Given the description of an element on the screen output the (x, y) to click on. 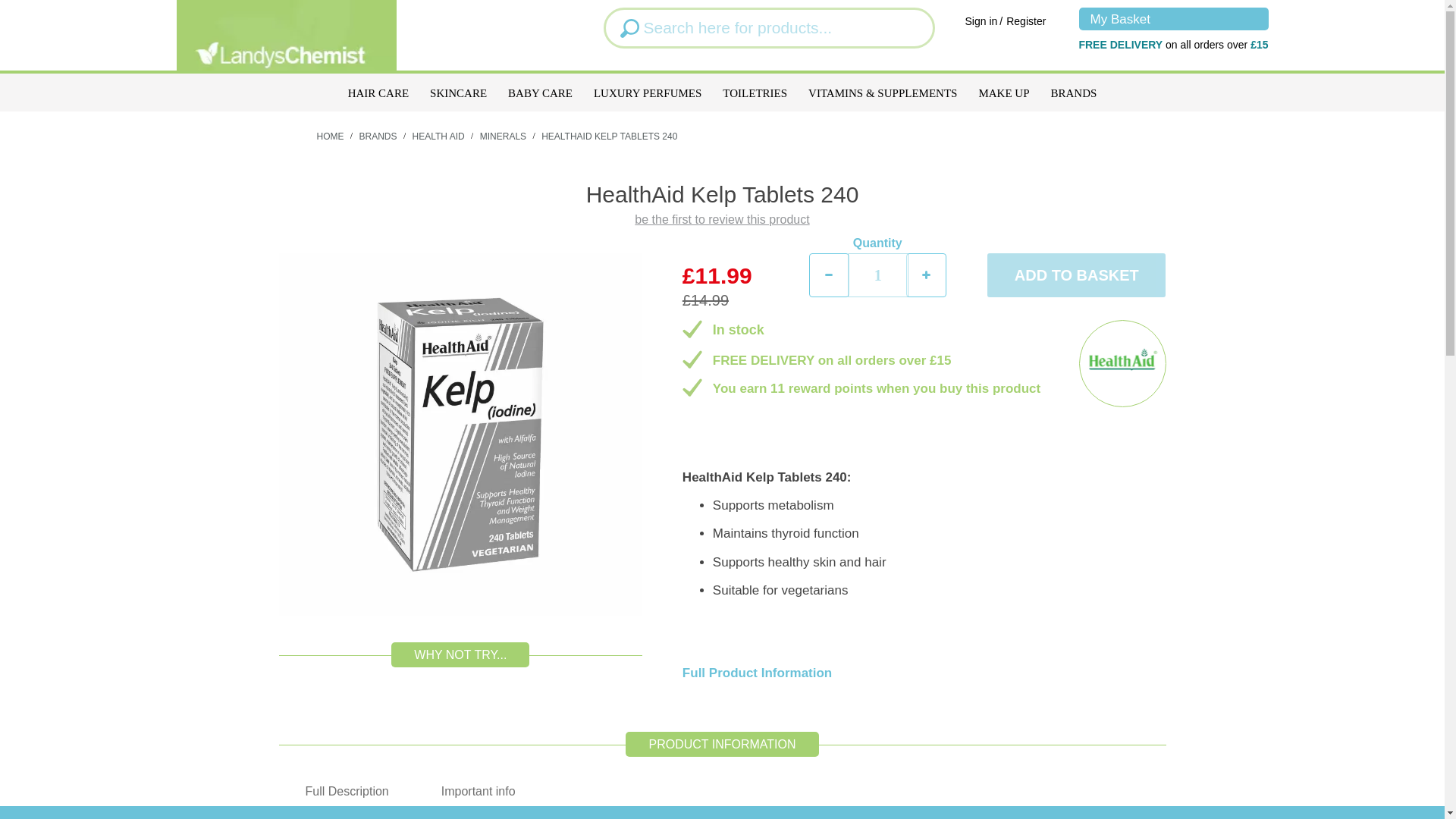
Sign in (980, 21)
My Basket (1173, 18)
Register (1025, 21)
1 (877, 275)
